Given the description of an element on the screen output the (x, y) to click on. 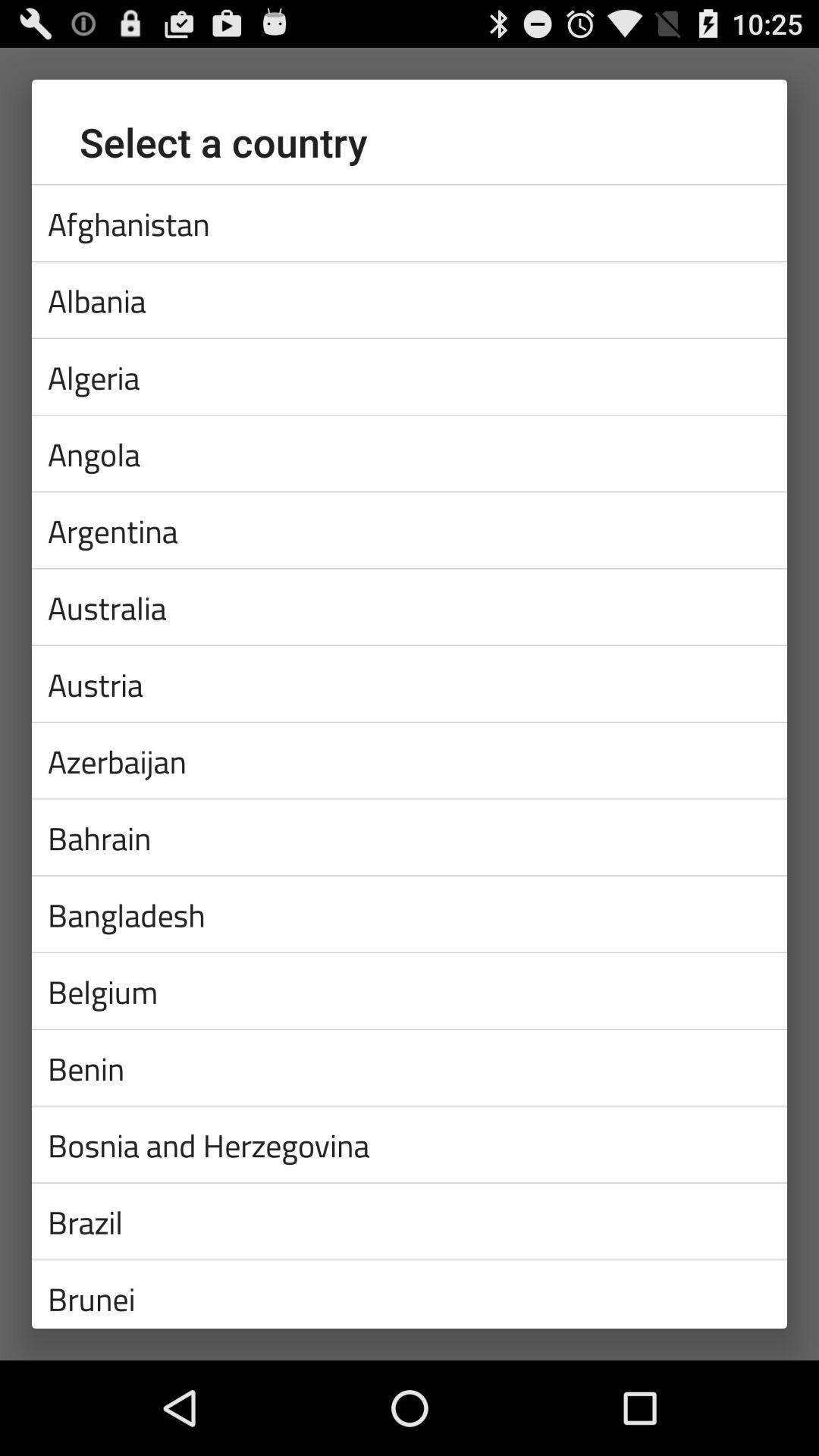
flip until the albania icon (409, 299)
